Given the description of an element on the screen output the (x, y) to click on. 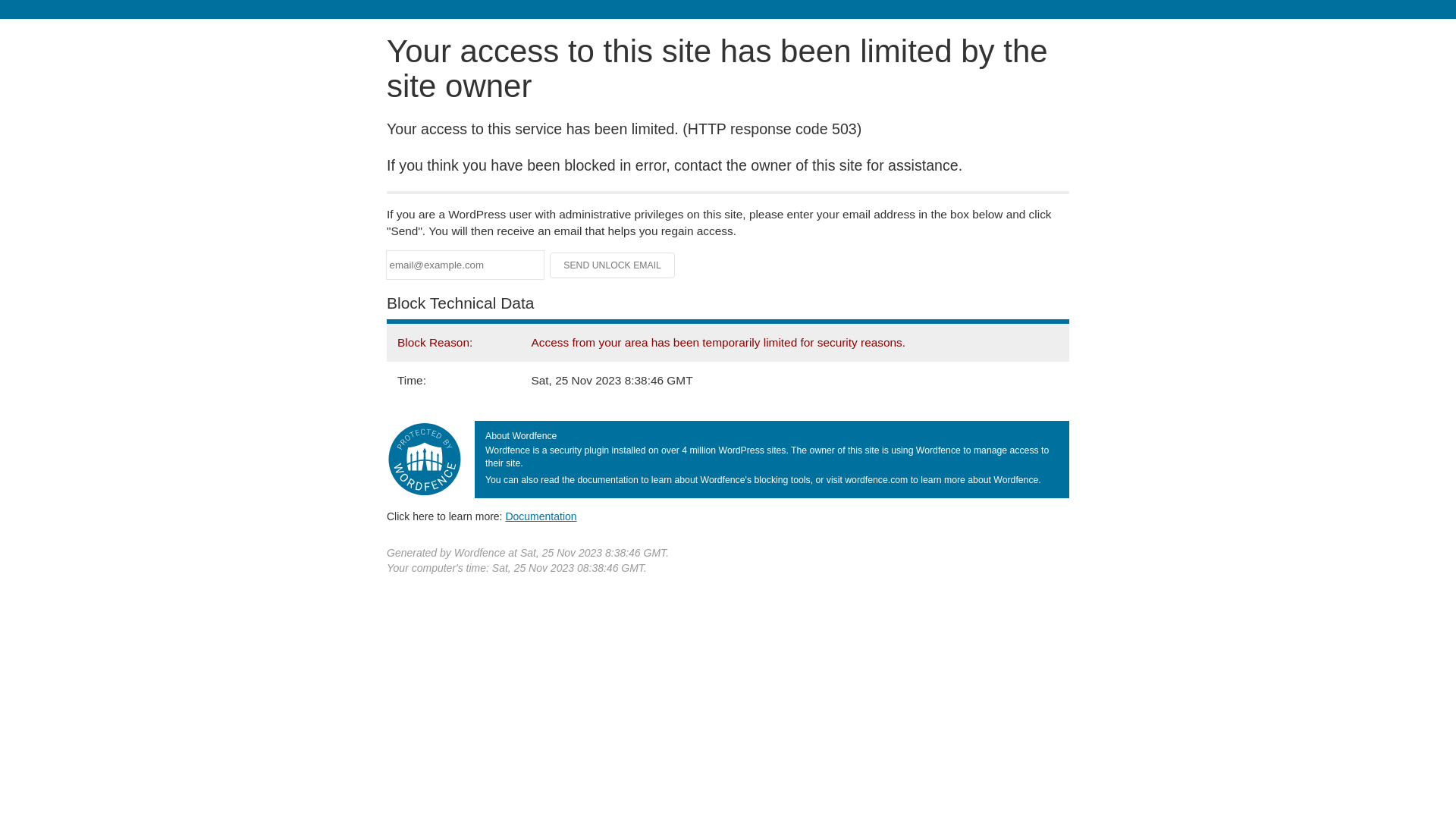
Send Unlock Email Element type: text (612, 265)
Documentation Element type: text (540, 516)
